Given the description of an element on the screen output the (x, y) to click on. 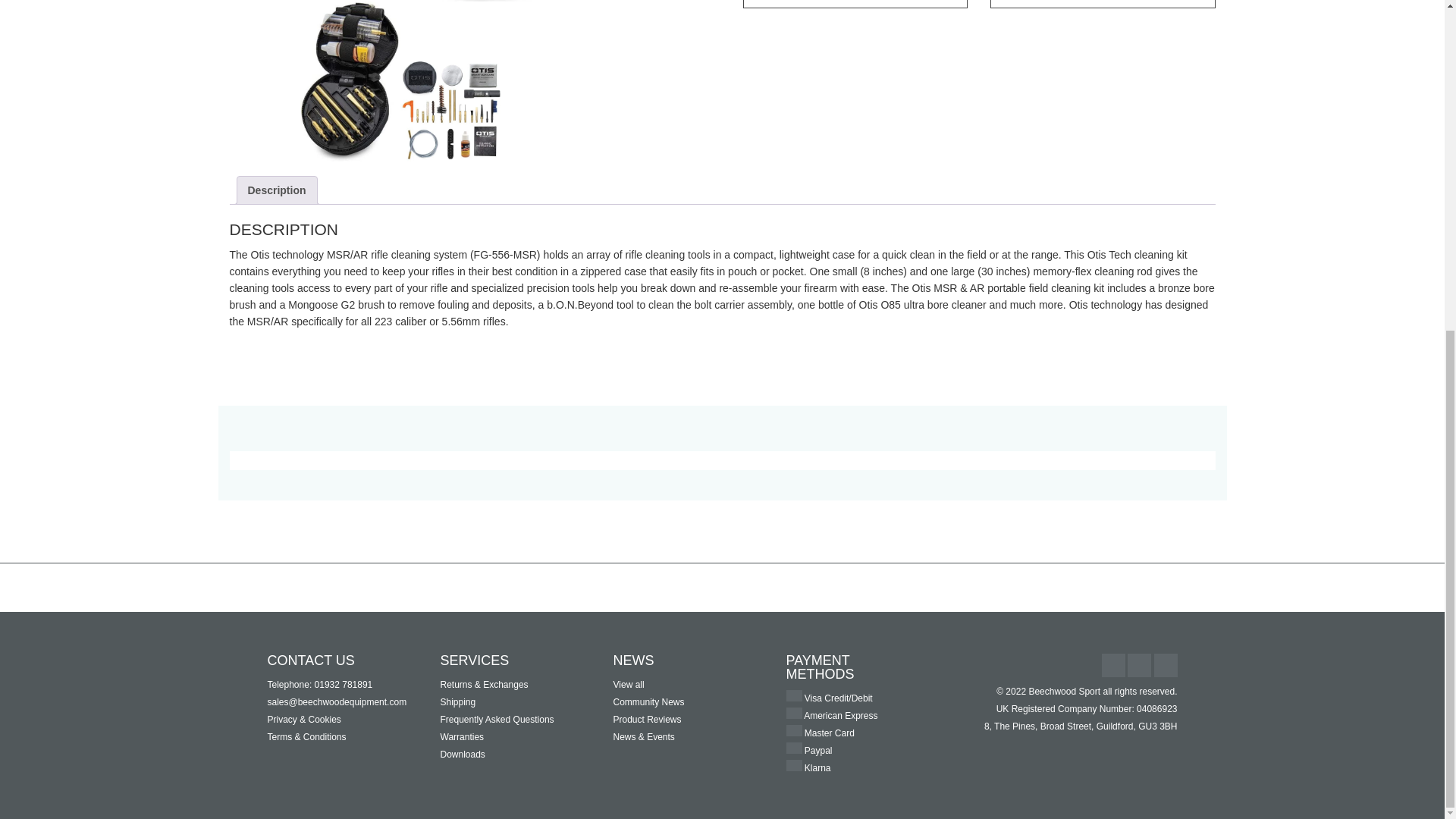
Gun cleaning kit M4 5.56mm (450, 110)
gun cleaning kit M4 AR15 (349, 81)
Customer reviews powered by Trustpilot (722, 587)
